Given the description of an element on the screen output the (x, y) to click on. 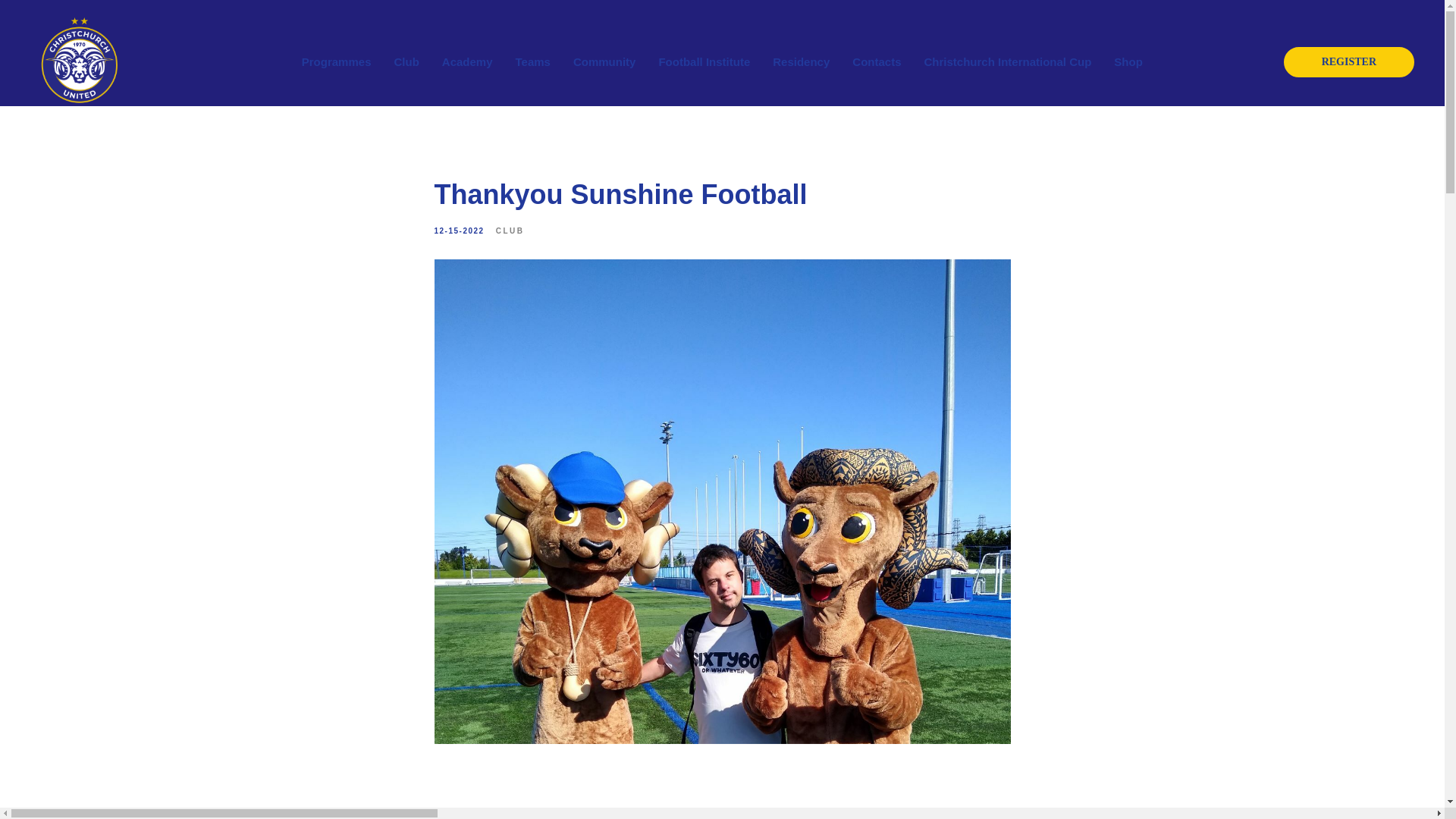
Football Institute (703, 61)
Community (604, 61)
Club (406, 61)
Academy (467, 61)
Programmes (336, 61)
Teams (532, 61)
